Given the description of an element on the screen output the (x, y) to click on. 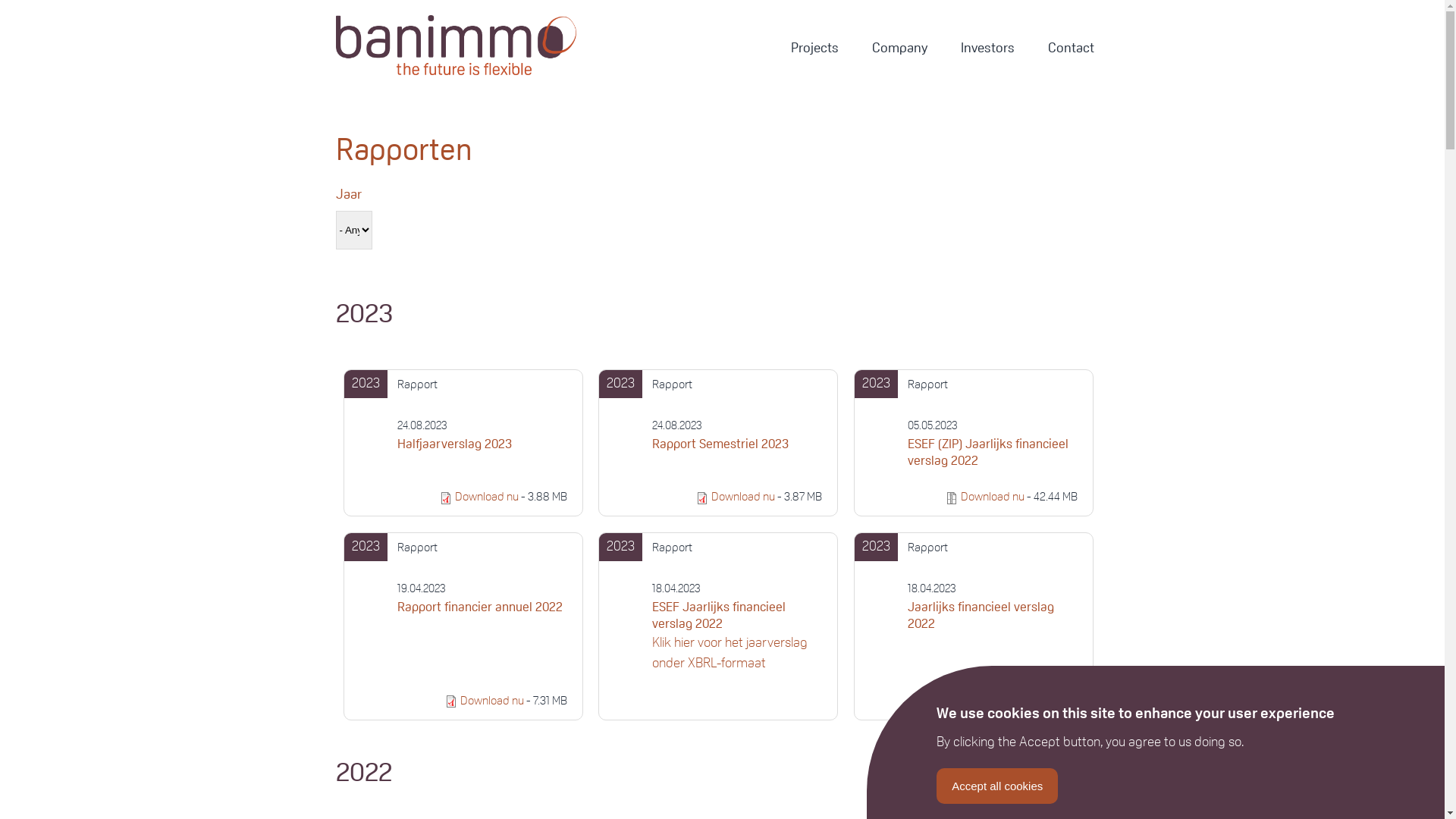
Skip to main content Element type: text (0, 0)
Withdraw consent Element type: text (1117, 775)
Download nu Element type: text (486, 497)
Investors Element type: text (986, 47)
Home Element type: hover (489, 48)
Contact Element type: text (1071, 47)
Apply Element type: text (31, 22)
Klik hier voor het jaarverslag onder XBRL-formaat Element type: text (729, 653)
Download nu Element type: text (994, 701)
Company Element type: text (899, 47)
Download nu Element type: text (743, 497)
Download nu Element type: text (992, 497)
Accept all cookies Element type: text (996, 785)
Projects Element type: text (813, 47)
Download nu Element type: text (492, 701)
